Given the description of an element on the screen output the (x, y) to click on. 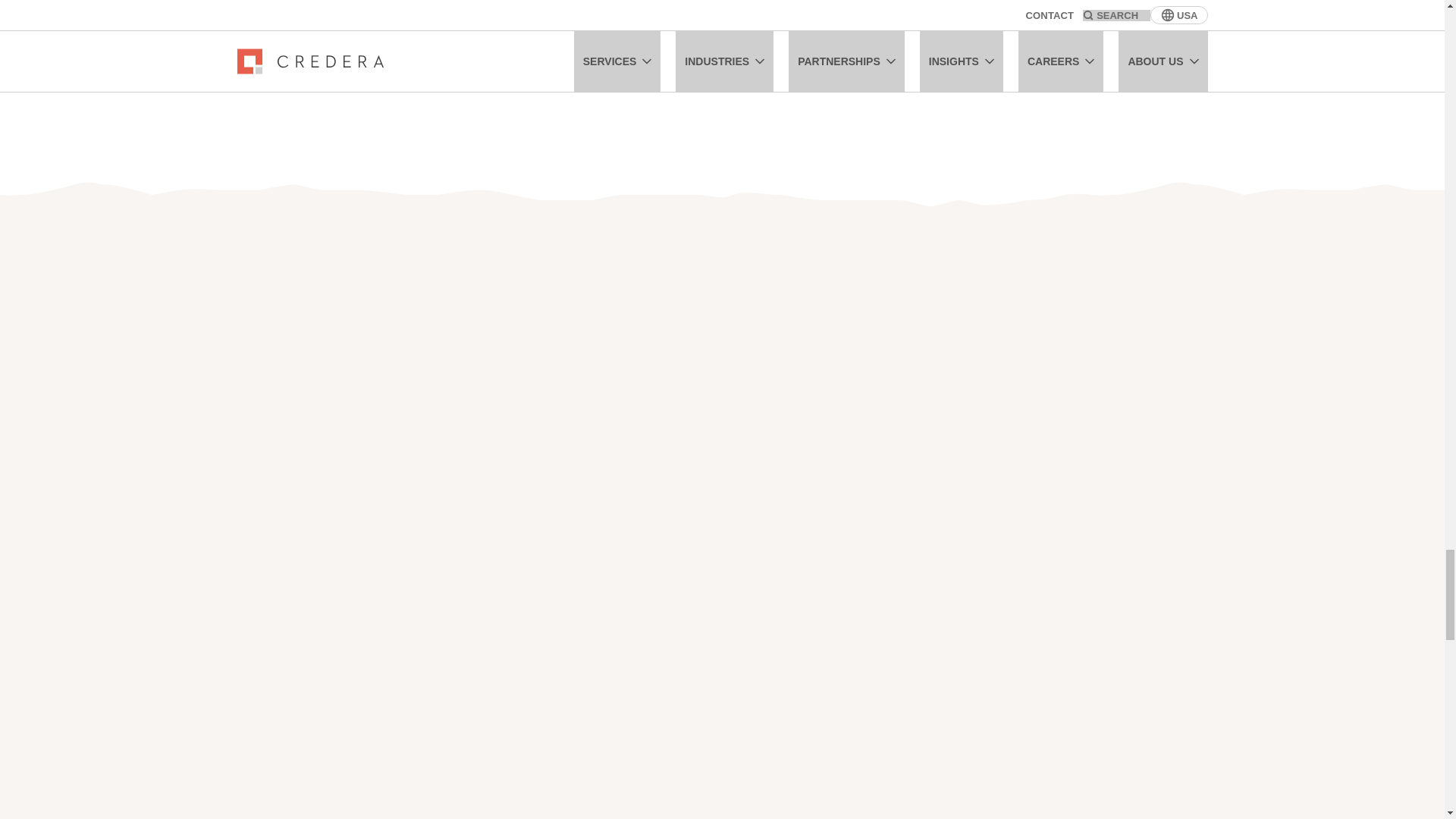
CX (740, 13)
User Experience (457, 13)
UX (542, 13)
Customer Experience (641, 13)
